Given the description of an element on the screen output the (x, y) to click on. 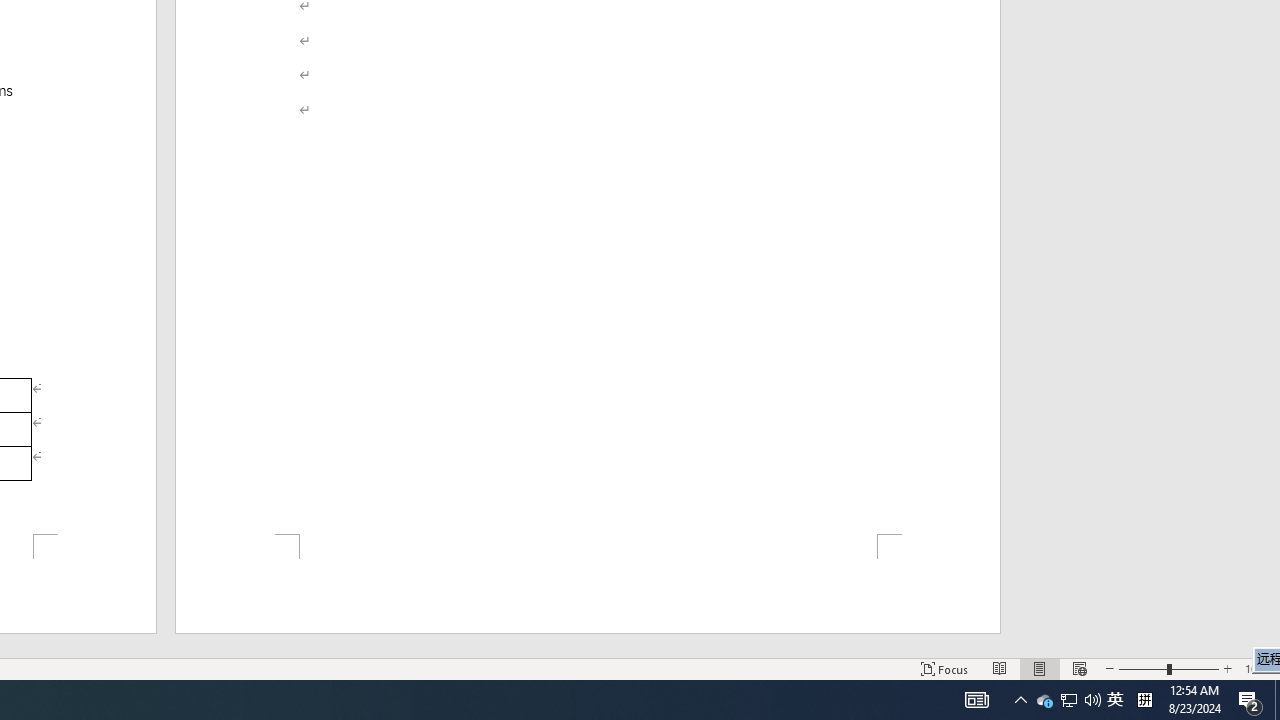
User Promoted Notification Area (1069, 699)
